Given the description of an element on the screen output the (x, y) to click on. 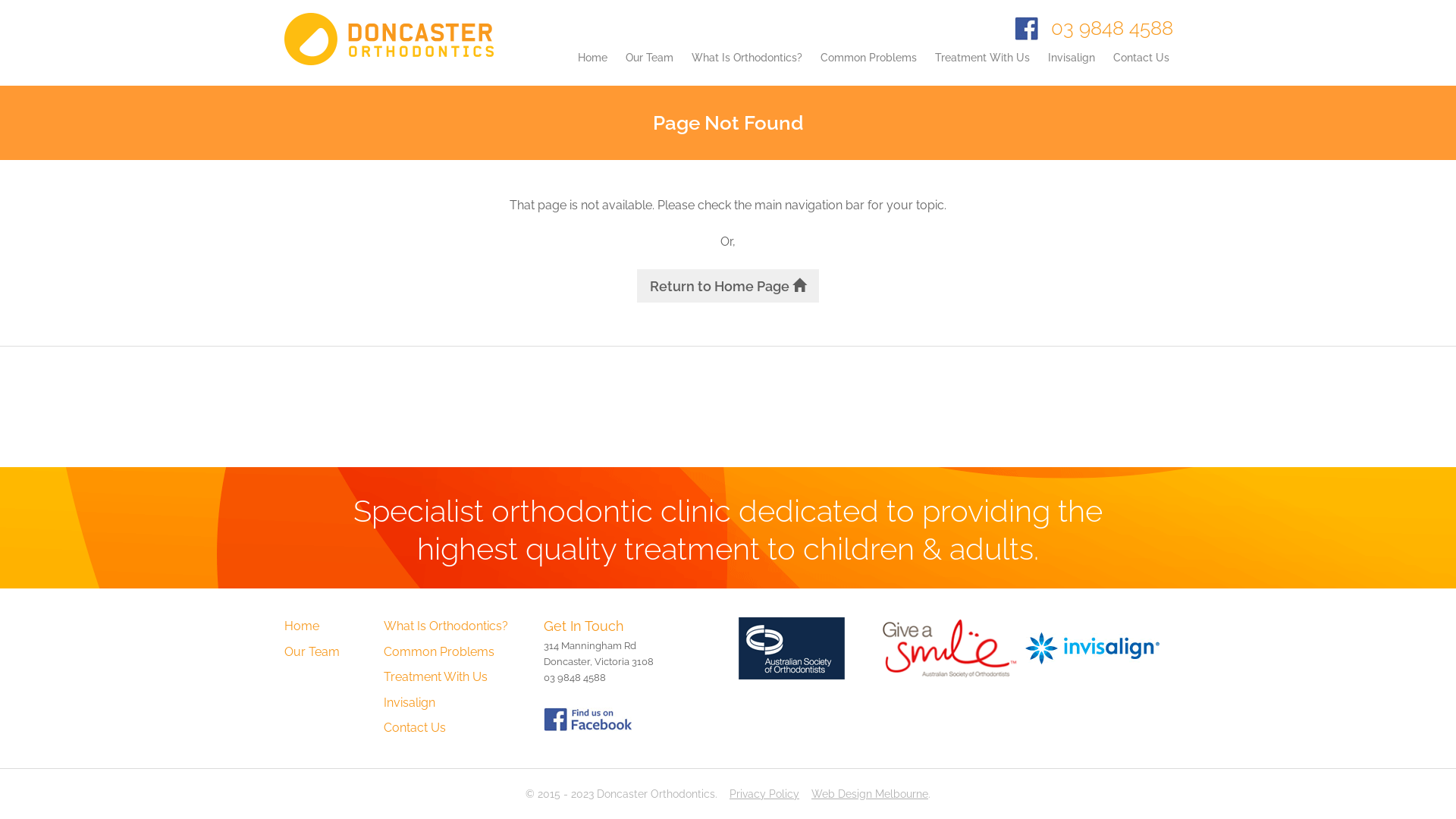
Treatment With Us Element type: text (435, 676)
03 9848 4588 Element type: text (1112, 27)
What Is Orthodontics? Element type: text (746, 68)
Contact Us Element type: text (414, 727)
Web Design Melbourne Element type: text (869, 793)
Common Problems Element type: text (868, 68)
Invisalign Element type: text (1071, 68)
Contact Us Element type: text (1140, 68)
Home Element type: text (592, 68)
Privacy Policy Element type: text (764, 793)
Treatment With Us Element type: text (982, 68)
Return to Home Page Element type: text (728, 285)
Our Team Element type: text (649, 68)
Invisalign Element type: text (409, 702)
Home Element type: text (301, 625)
Common Problems Element type: text (438, 651)
Our Team Element type: text (311, 651)
03 9848 4588 Element type: text (574, 677)
Find us on Facebook Element type: text (587, 719)
What Is Orthodontics? Element type: text (445, 625)
